Given the description of an element on the screen output the (x, y) to click on. 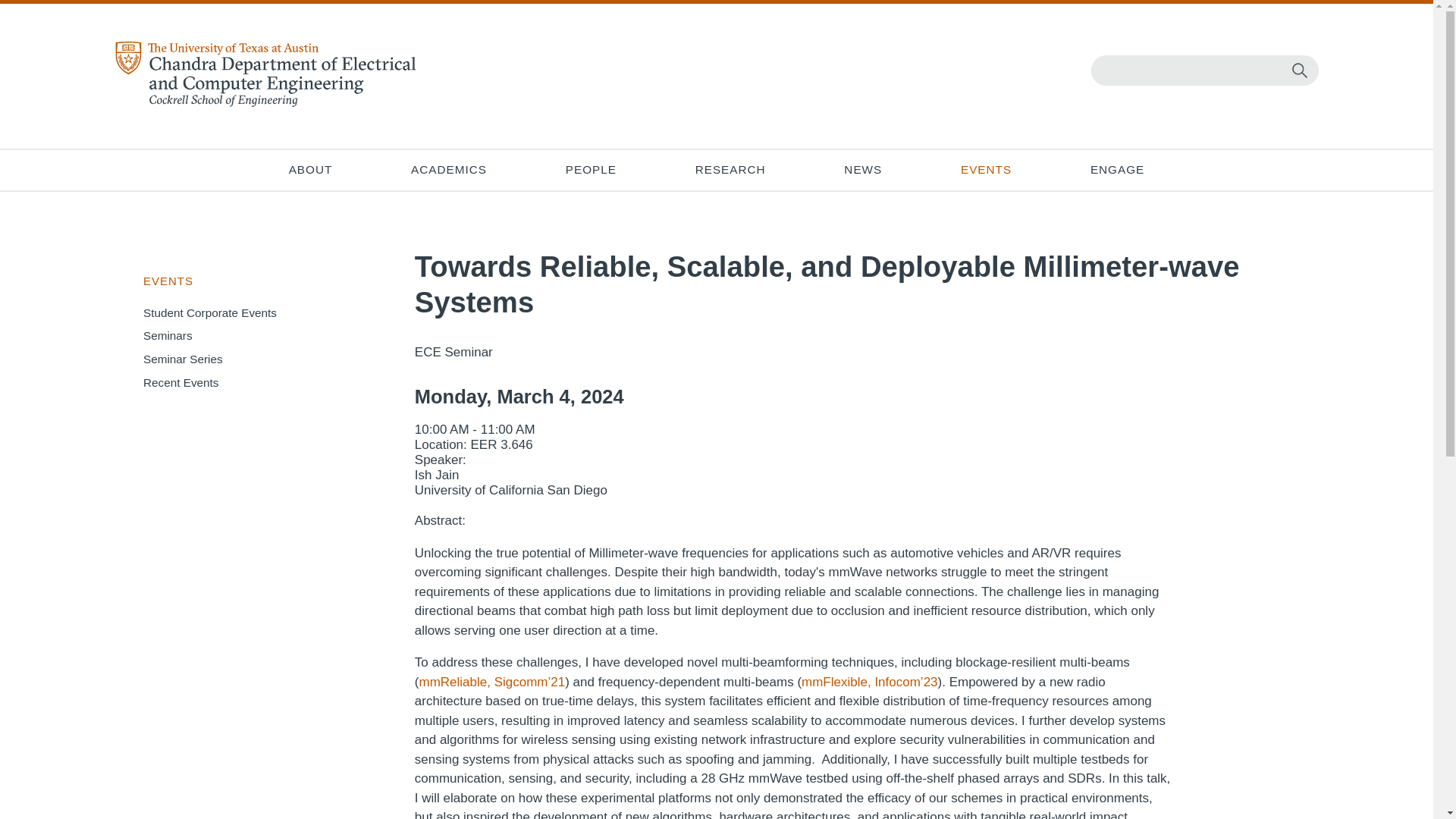
NEWS (862, 169)
ABOUT (309, 169)
ACADEMICS (448, 169)
EVENTS (986, 169)
About Texas ECE (309, 169)
PEOPLE (590, 169)
Texas ECE Academics (448, 169)
ENGAGE (1117, 169)
Go (1299, 70)
People (590, 169)
search (1200, 70)
RESEARCH (729, 169)
